Given the description of an element on the screen output the (x, y) to click on. 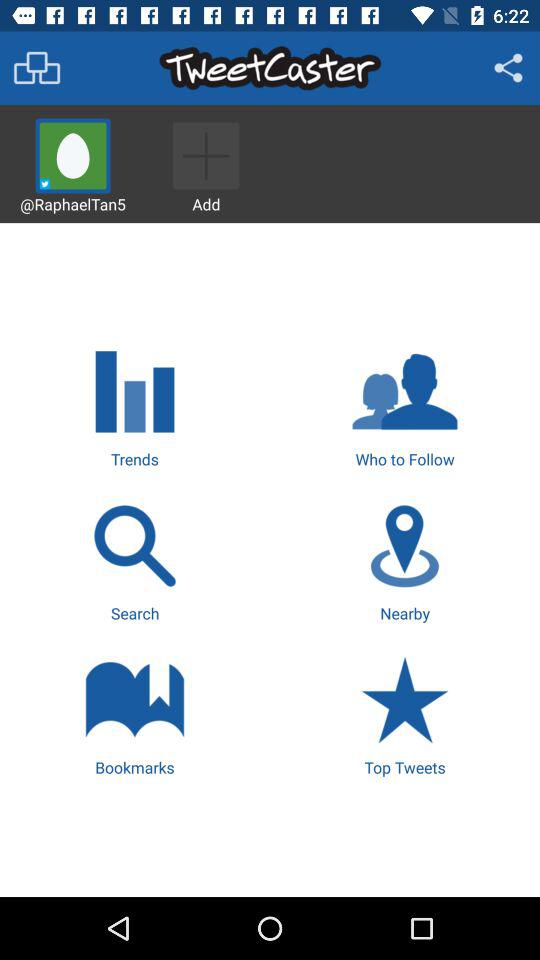
press item to the right of search icon (404, 559)
